Given the description of an element on the screen output the (x, y) to click on. 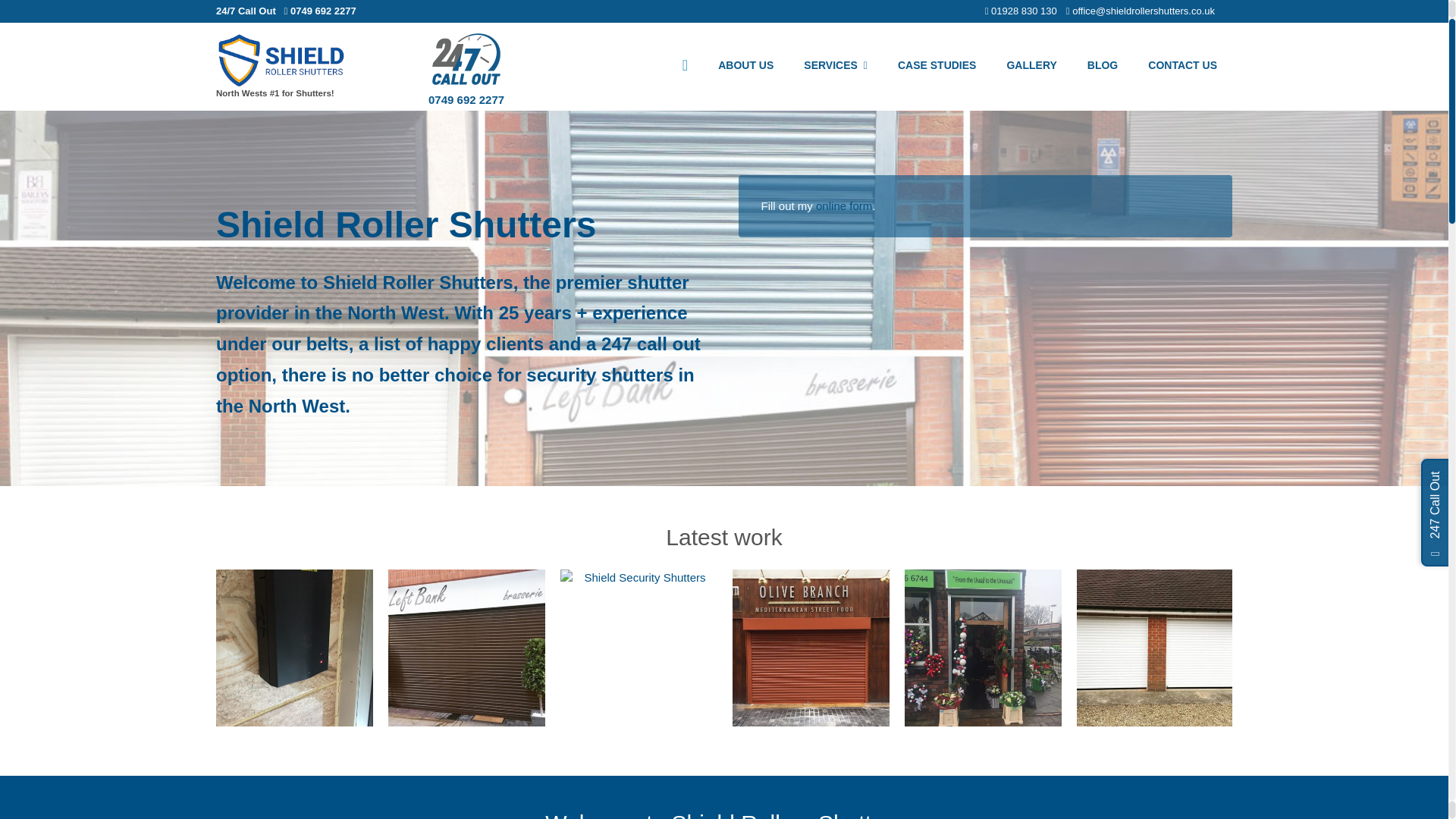
online form (843, 205)
BLOG (1101, 66)
SERVICES (835, 66)
CASE STUDIES (936, 66)
01928 830 130 (1021, 10)
Call us now (1021, 10)
CONTACT US (1181, 66)
0749 692 2277 (465, 99)
GALLERY (1031, 66)
Email us now (1139, 10)
ABOUT US (746, 66)
Call us now (465, 99)
